Given the description of an element on the screen output the (x, y) to click on. 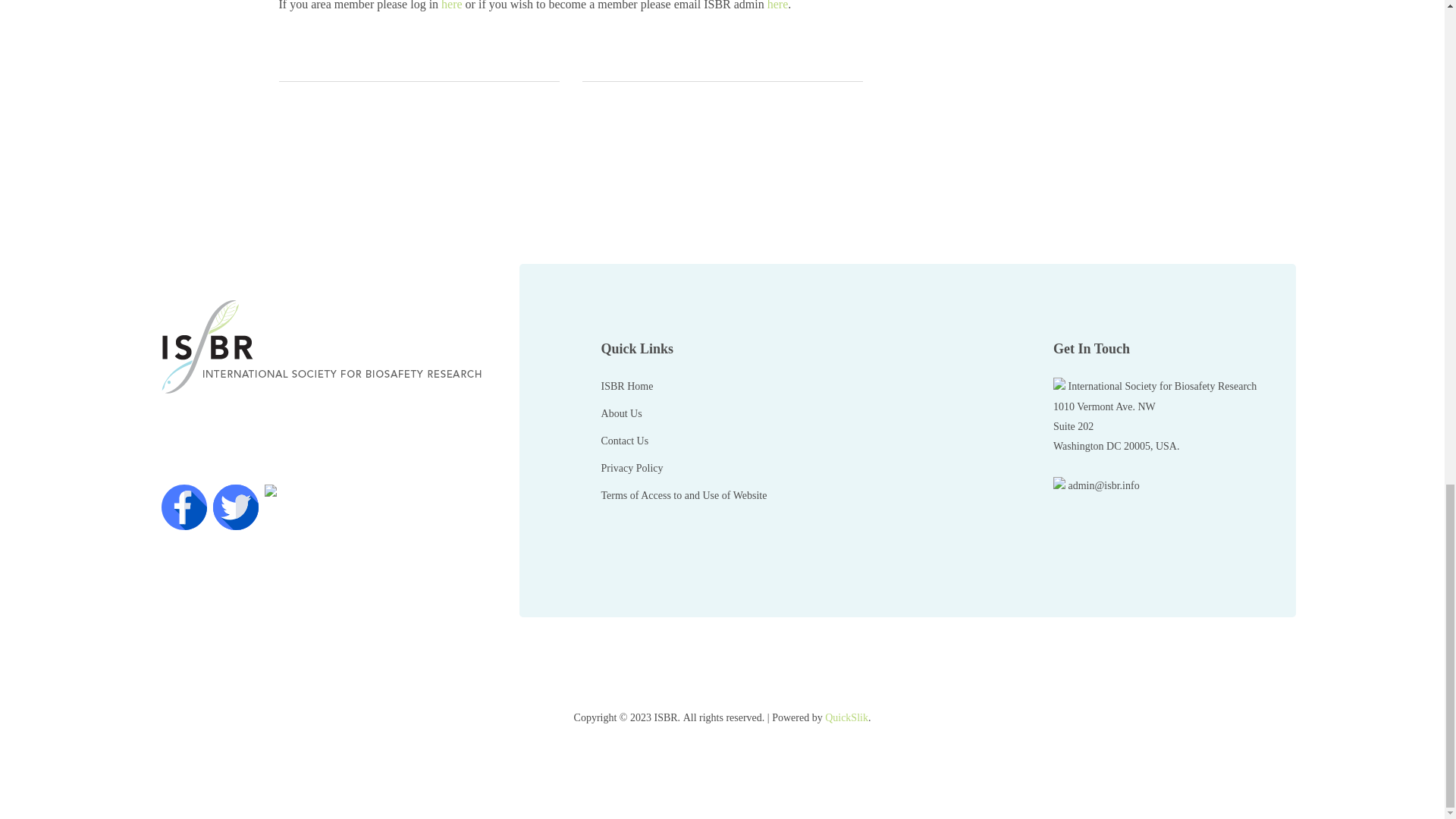
here (452, 5)
here (778, 5)
Twitter (234, 506)
Facebook (183, 506)
Linkedin (285, 506)
About Us (621, 414)
ISBR Home (627, 386)
ISBR (327, 346)
